Given the description of an element on the screen output the (x, y) to click on. 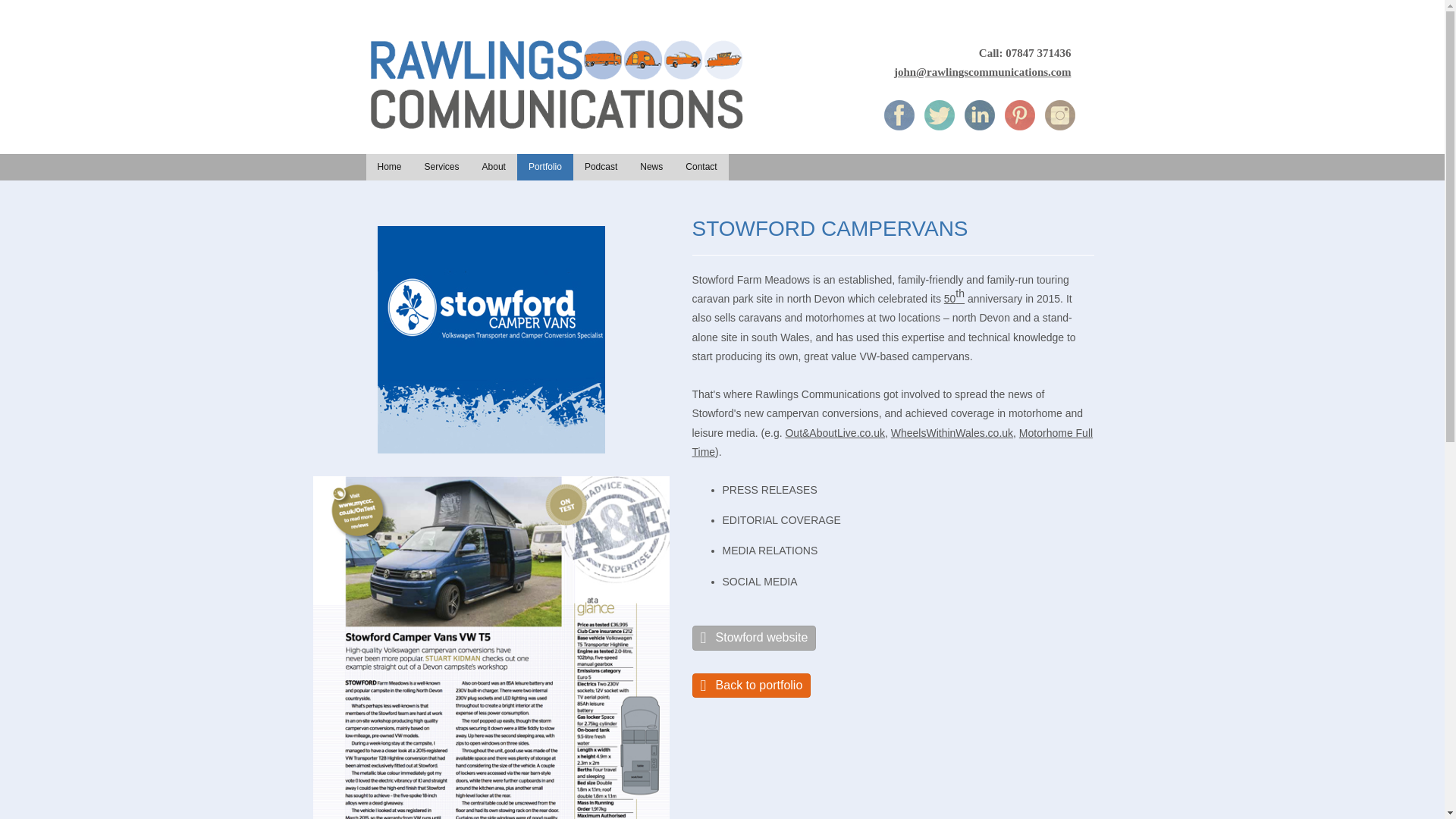
WheelsWithinWales.co.uk (952, 432)
News (651, 166)
Podcast (600, 166)
Motorhome Full Time (892, 441)
Contact (701, 166)
Stowford website (753, 637)
Home (388, 166)
About (493, 166)
Services (441, 166)
Portfolio (544, 166)
